Given the description of an element on the screen output the (x, y) to click on. 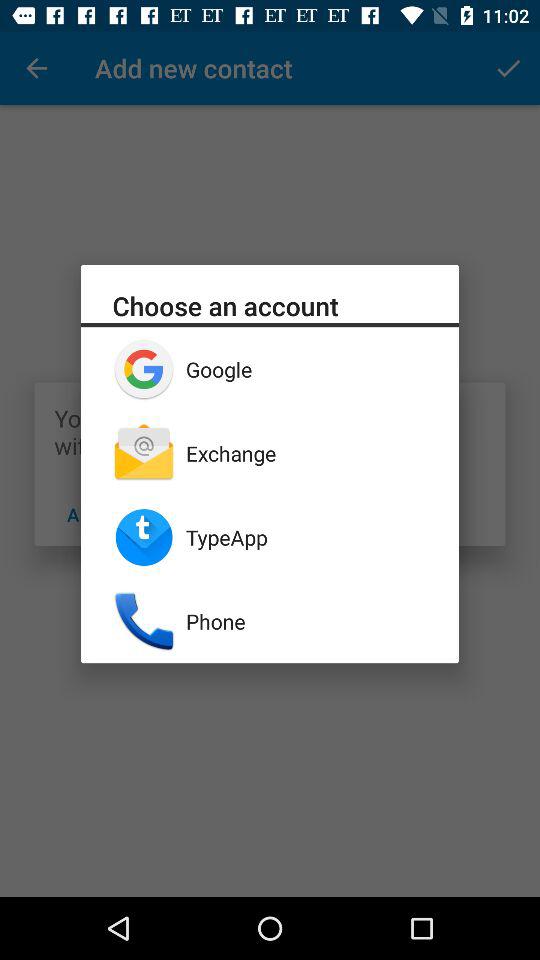
flip to google (306, 369)
